Given the description of an element on the screen output the (x, y) to click on. 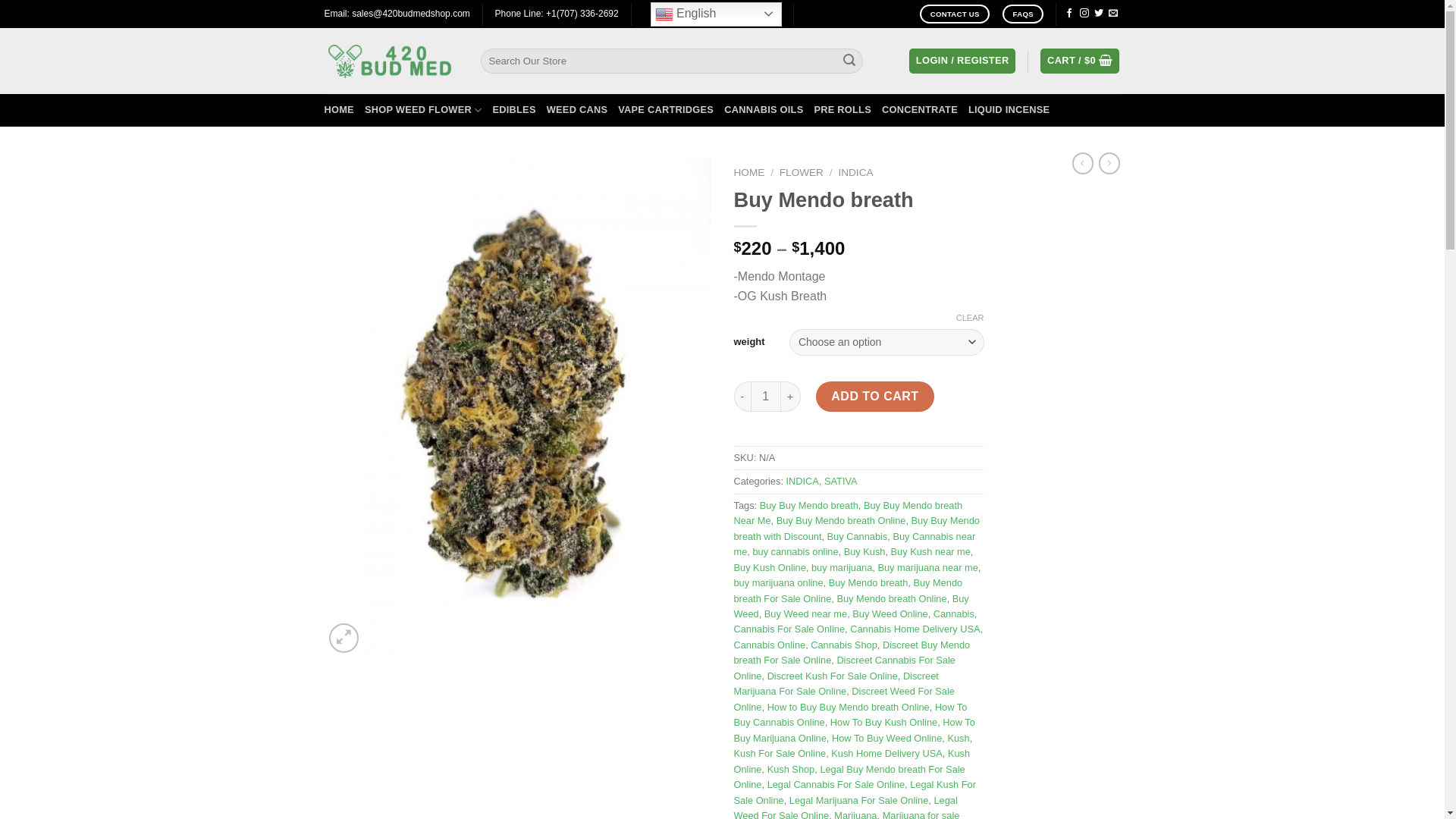
FAQS Element type: text (1022, 13)
Buy Buy Mendo breath Near Me Element type: text (848, 512)
Follow on Twitter Element type: hover (1098, 13)
How To Buy Weed Online Element type: text (886, 737)
Kush Shop Element type: text (791, 769)
Legal Marijuana For Sale Online Element type: text (858, 800)
Kush Element type: text (958, 737)
CONCENTRATE Element type: text (919, 109)
img_2256 Element type: hover (517, 406)
Buy Weed Online Element type: text (889, 613)
Buy Weed Element type: text (851, 606)
Buy Weed near me Element type: text (805, 613)
buy cannabis online Element type: text (794, 551)
VAPE CARTRIDGES Element type: text (665, 109)
How To Buy Marijuana Online Element type: text (854, 729)
Cannabis Element type: text (953, 613)
INDICA Element type: text (854, 172)
buy marijuana online Element type: text (778, 582)
CART / $0 Element type: text (1079, 60)
Discreet Cannabis For Sale Online Element type: text (844, 667)
Buy Mendo breath Online Element type: text (891, 598)
FLOWER Element type: text (801, 172)
Kush Home Delivery USA Element type: text (886, 753)
LIQUID INCENSE Element type: text (1008, 109)
How To Buy Kush Online Element type: text (883, 722)
Discreet Buy Mendo breath For Sale Online Element type: text (852, 652)
Legal Buy Mendo breath For Sale Online Element type: text (849, 776)
Kush For Sale Online Element type: text (780, 753)
SATIVA Element type: text (840, 480)
Kush Online Element type: text (852, 760)
English Element type: text (715, 13)
Buy Mendo breath For Sale Online Element type: text (848, 590)
PRE ROLLS Element type: text (842, 109)
Buy Cannabis Element type: text (857, 536)
Buy Mendo breath Element type: text (868, 582)
Discreet Marijuana For Sale Online Element type: text (836, 683)
Discreet Weed For Sale Online Element type: text (844, 698)
How To Buy Cannabis Online Element type: text (850, 714)
Buy Kush Online Element type: text (770, 567)
Qty Element type: hover (765, 396)
Zoom Element type: hover (343, 637)
LOGIN / REGISTER Element type: text (962, 60)
WEED CANS Element type: text (577, 109)
Legal Cannabis For Sale Online Element type: text (835, 784)
SHOP WEED FLOWER Element type: text (423, 109)
Follow on Instagram Element type: hover (1083, 13)
Buy Buy Mendo breath Element type: text (808, 505)
buy marijuana Element type: text (841, 567)
Buy Kush Element type: text (864, 551)
Follow on Facebook Element type: hover (1068, 13)
INDICA Element type: text (801, 480)
ADD TO CART Element type: text (874, 396)
Legal Kush For Sale Online Element type: text (854, 791)
Discreet Kush For Sale Online Element type: text (832, 675)
Buy Cannabis near me Element type: text (854, 543)
EDIBLES Element type: text (513, 109)
Buy marijuana near me Element type: text (927, 567)
CONTACT US Element type: text (954, 13)
Send us an email Element type: hover (1112, 13)
How to Buy Buy Mendo breath Online Element type: text (848, 706)
Buy Buy Mendo breath with Discount Element type: text (856, 527)
HOME Element type: text (749, 172)
Cannabis For Sale Online Element type: text (789, 628)
Buy Buy Mendo breath Online Element type: text (841, 520)
Cannabis Home Delivery USA Element type: text (914, 628)
Buy Kush near me Element type: text (930, 551)
HOME Element type: text (339, 109)
Cannabis Online Element type: text (770, 644)
Cannabis Shop Element type: text (843, 644)
CANNABIS OILS Element type: text (763, 109)
CLEAR Element type: text (970, 317)
